Given the description of an element on the screen output the (x, y) to click on. 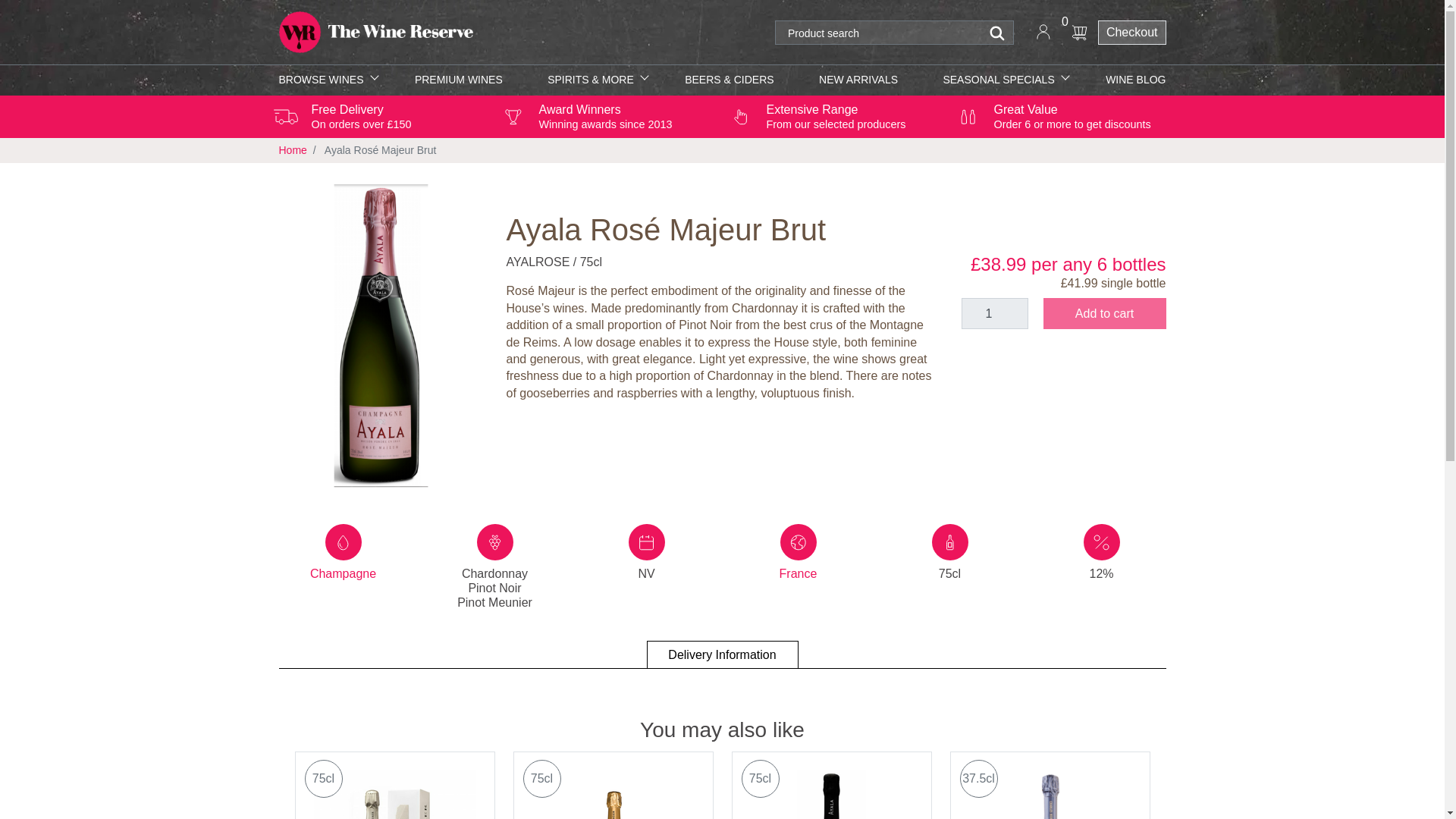
Premium Wines (458, 80)
Order Checkout (1131, 32)
Search (998, 32)
Grape (494, 542)
Add to cart (1104, 313)
Search (998, 32)
PREMIUM WINES (458, 80)
Blog (1135, 80)
Checkout (1131, 32)
0 (1079, 32)
